Given the description of an element on the screen output the (x, y) to click on. 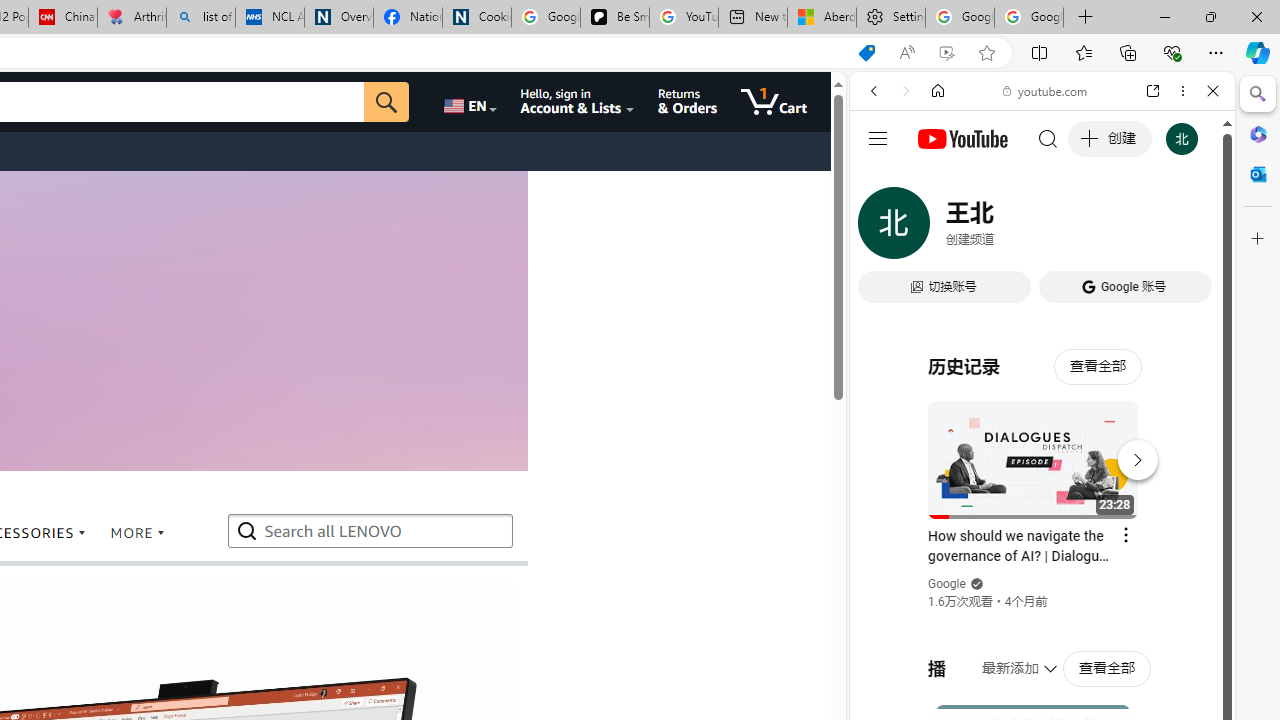
Choose a language for shopping. (468, 101)
Go (386, 101)
